Given the description of an element on the screen output the (x, y) to click on. 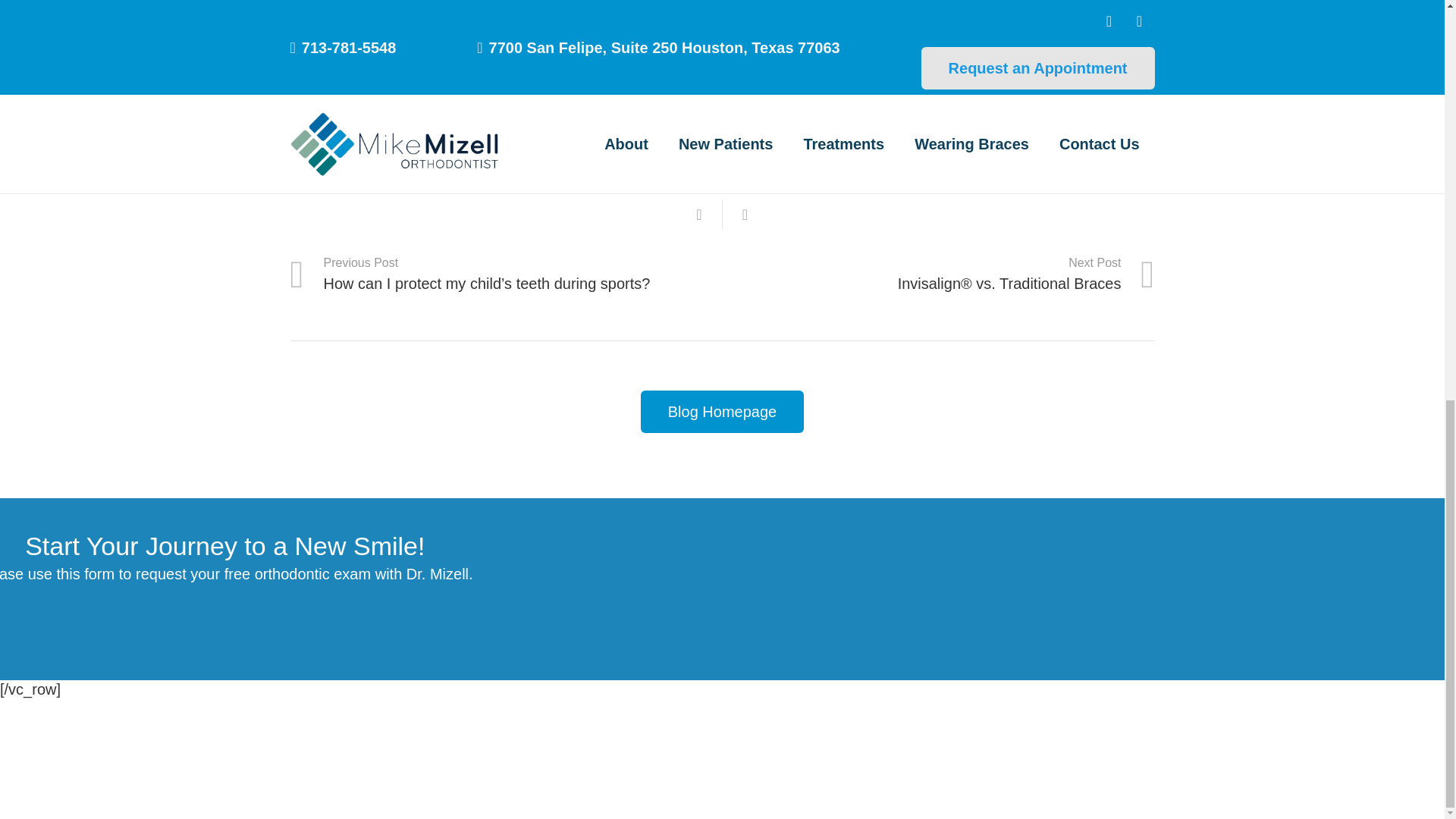
Tweet this (744, 214)
Share this (699, 214)
